Given the description of an element on the screen output the (x, y) to click on. 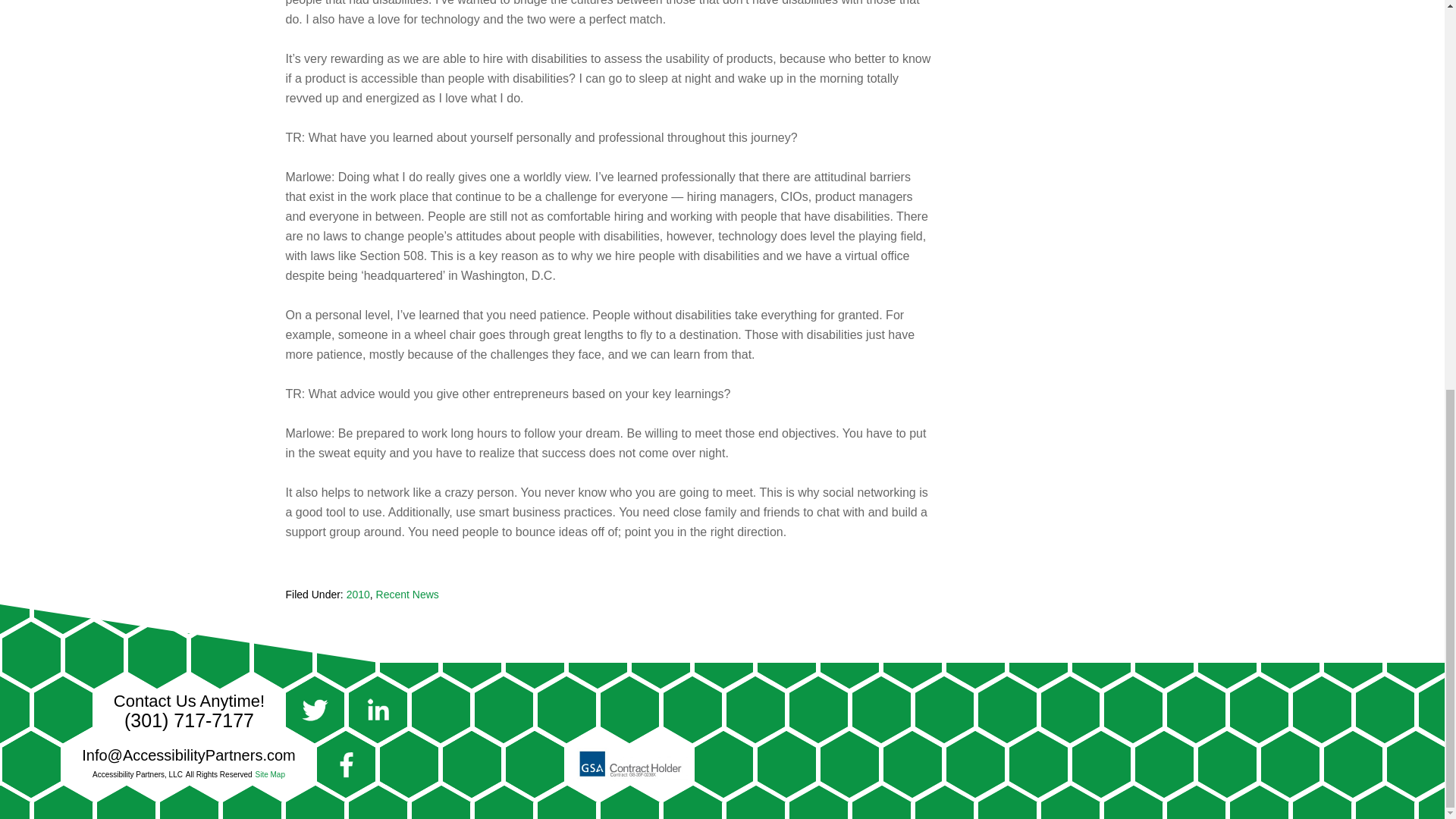
Recent News (407, 594)
2010 (357, 594)
